Given the description of an element on the screen output the (x, y) to click on. 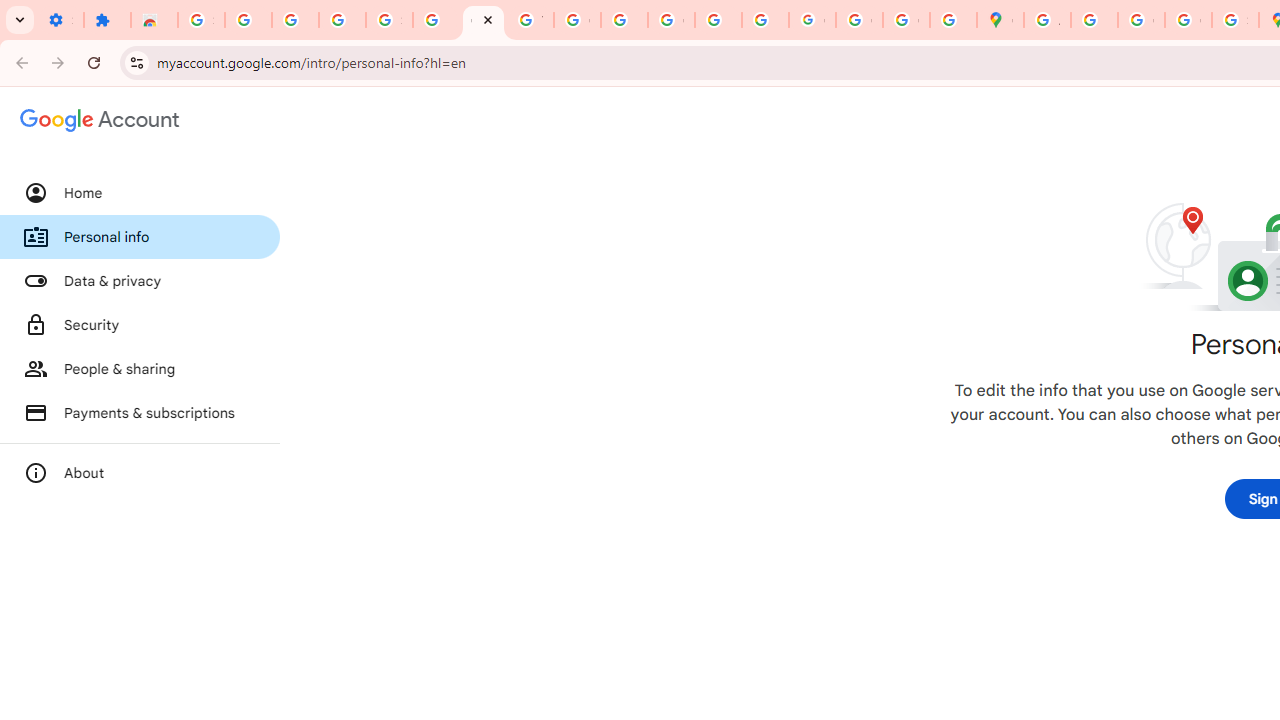
Reviews: Helix Fruit Jump Arcade Game (153, 20)
Safety in Our Products - Google Safety Center (1235, 20)
Security (140, 325)
Settings - On startup (60, 20)
Sign in - Google Accounts (389, 20)
Sign in - Google Accounts (201, 20)
Payments & subscriptions (140, 412)
